Given the description of an element on the screen output the (x, y) to click on. 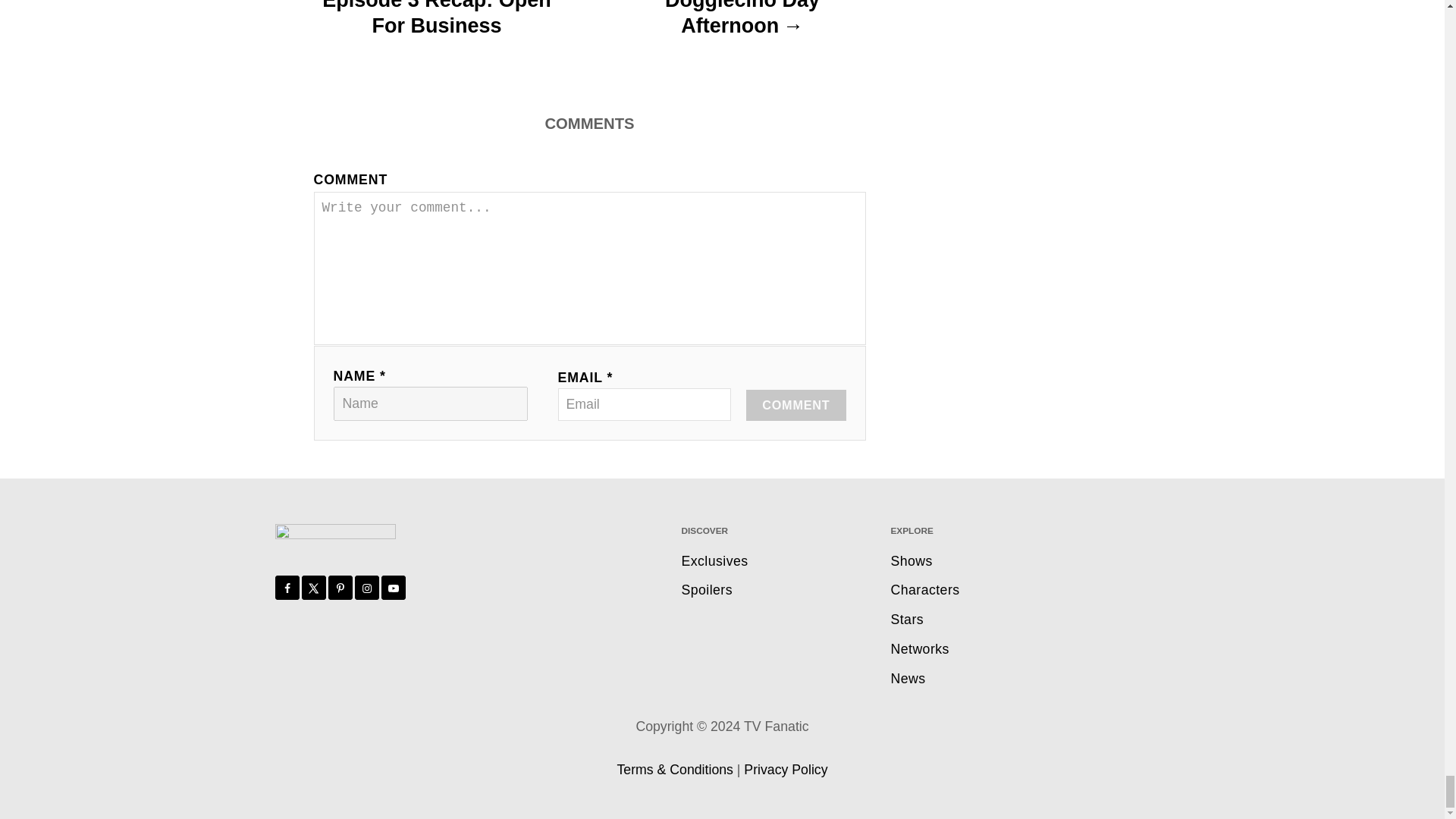
Follow on Facebook (286, 587)
